Given the description of an element on the screen output the (x, y) to click on. 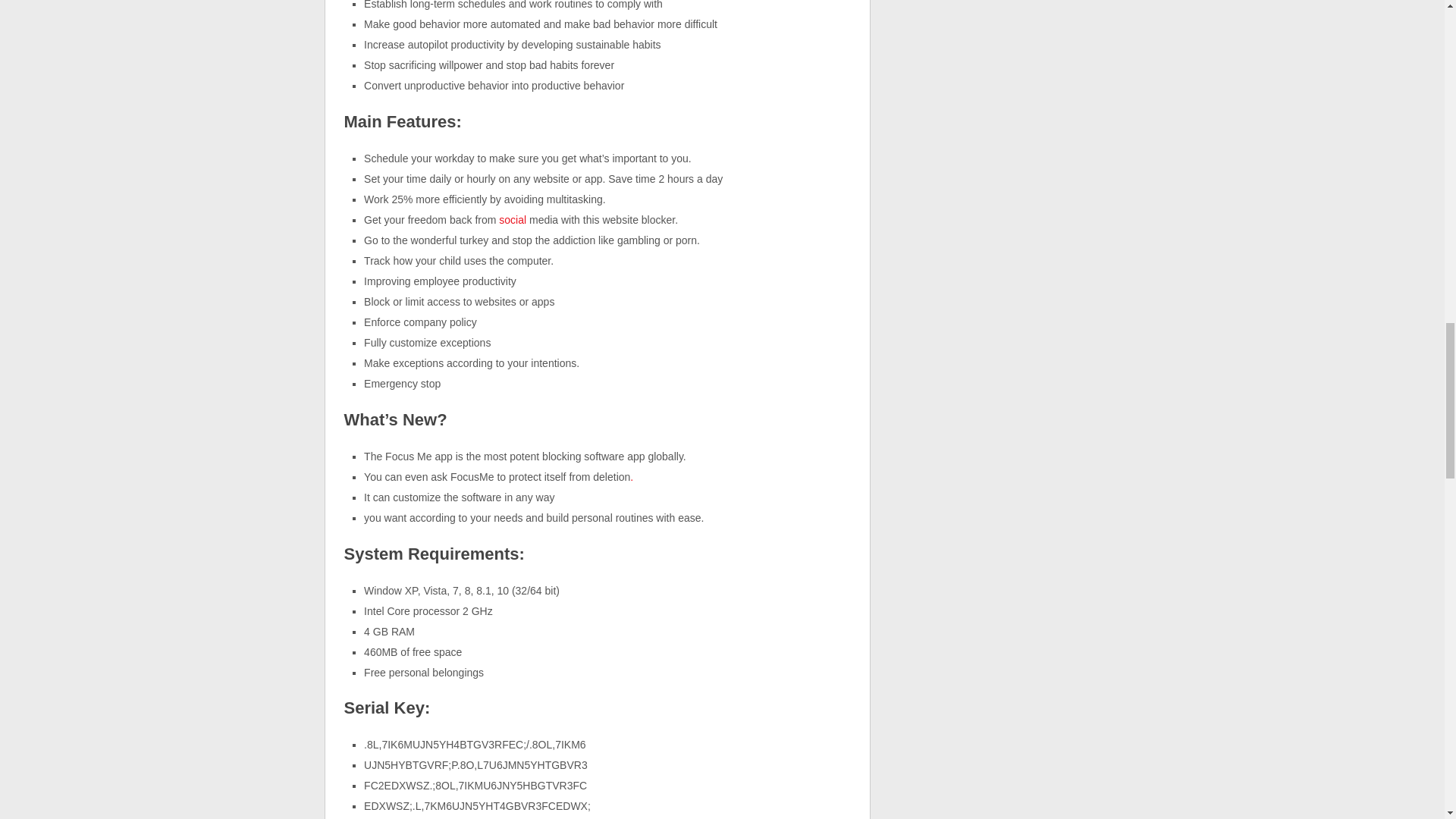
social (512, 219)
